Given the description of an element on the screen output the (x, y) to click on. 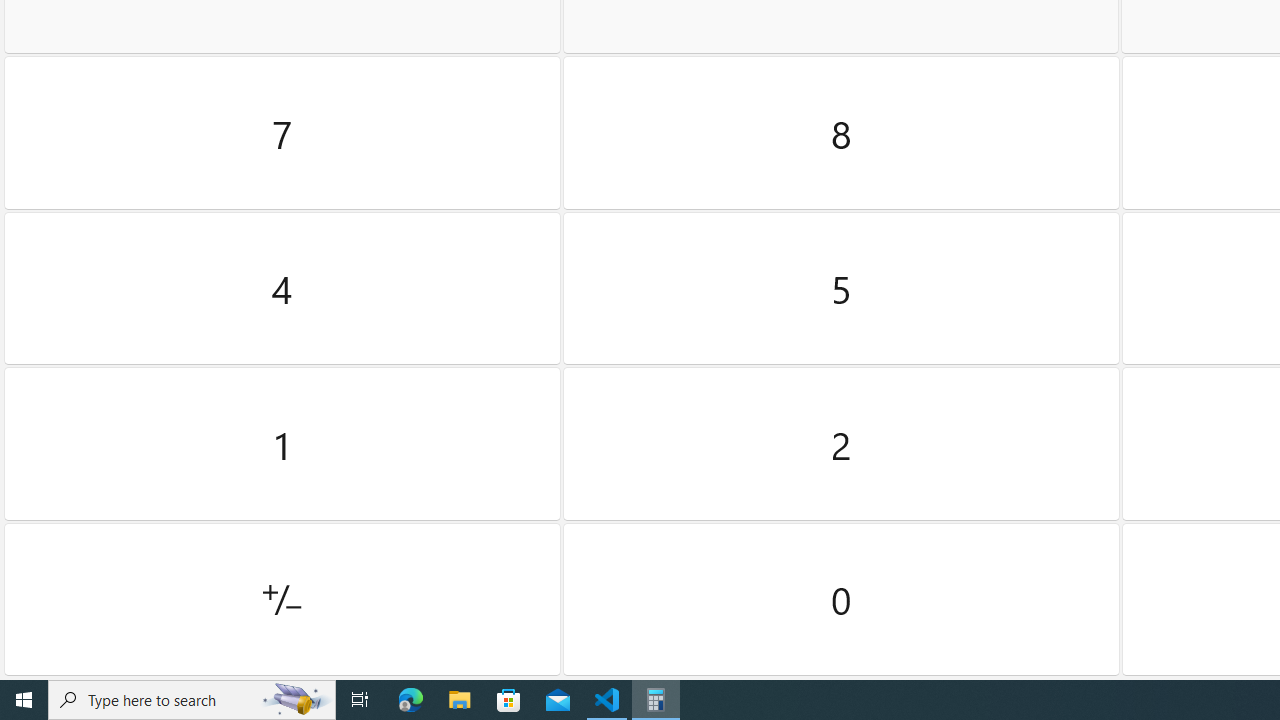
Positive negative (281, 599)
Seven (281, 133)
Five (841, 288)
Calculator - 1 running window (656, 699)
Microsoft Store (509, 699)
Start (24, 699)
Two (841, 444)
File Explorer (460, 699)
Four (281, 288)
One (281, 444)
Type here to search (191, 699)
Task View (359, 699)
Zero (841, 599)
Microsoft Edge (411, 699)
Search highlights icon opens search home window (295, 699)
